Given the description of an element on the screen output the (x, y) to click on. 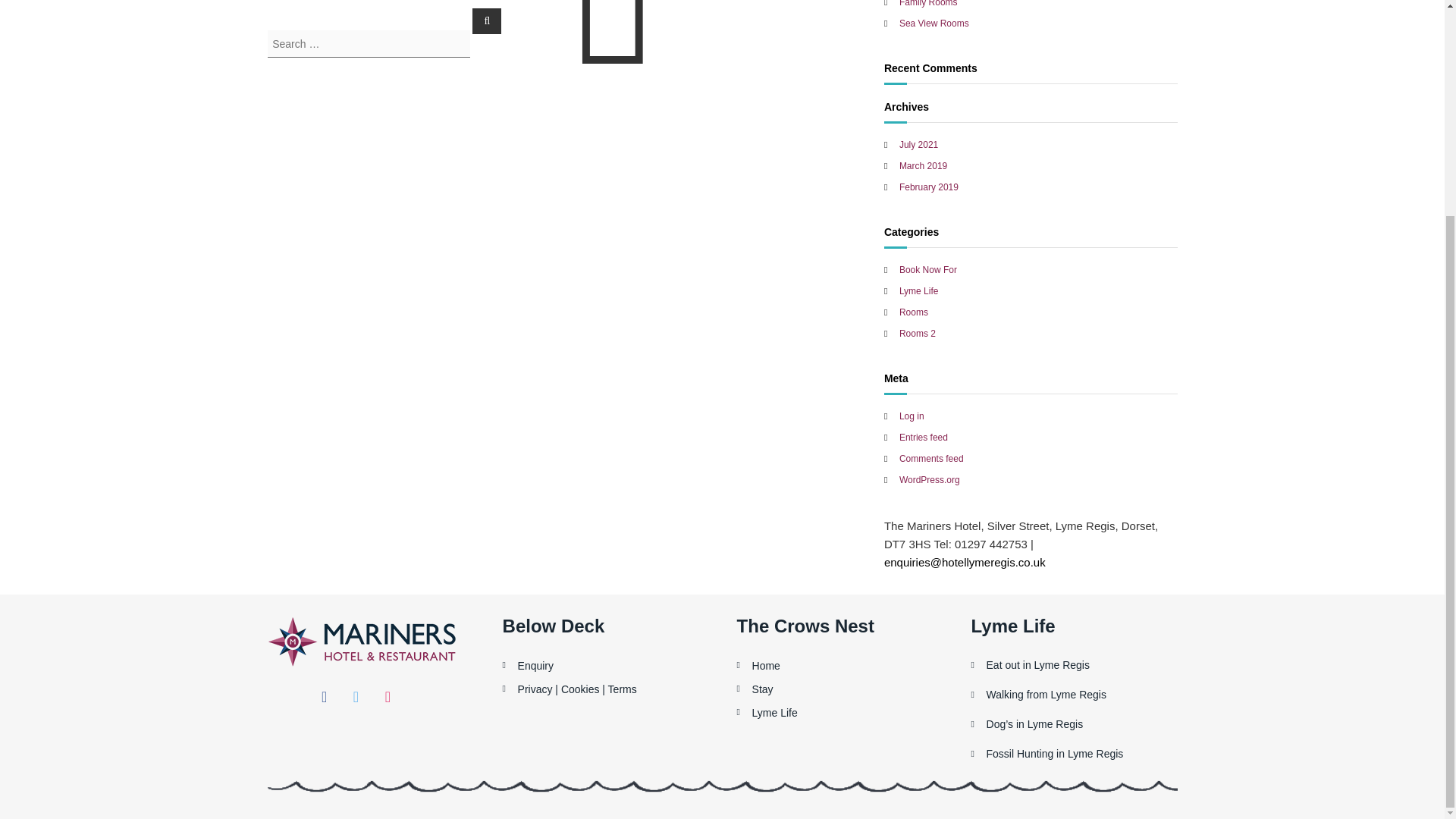
Lyme Life (919, 290)
Book Now For (927, 269)
Permalink to Fossil Hunting in Lyme Regis (1055, 753)
Rooms 2 (917, 333)
February 2019 (928, 186)
Family Rooms (928, 3)
March 2019 (923, 165)
Search (485, 21)
Sea View Rooms (934, 23)
Rooms (913, 312)
